Given the description of an element on the screen output the (x, y) to click on. 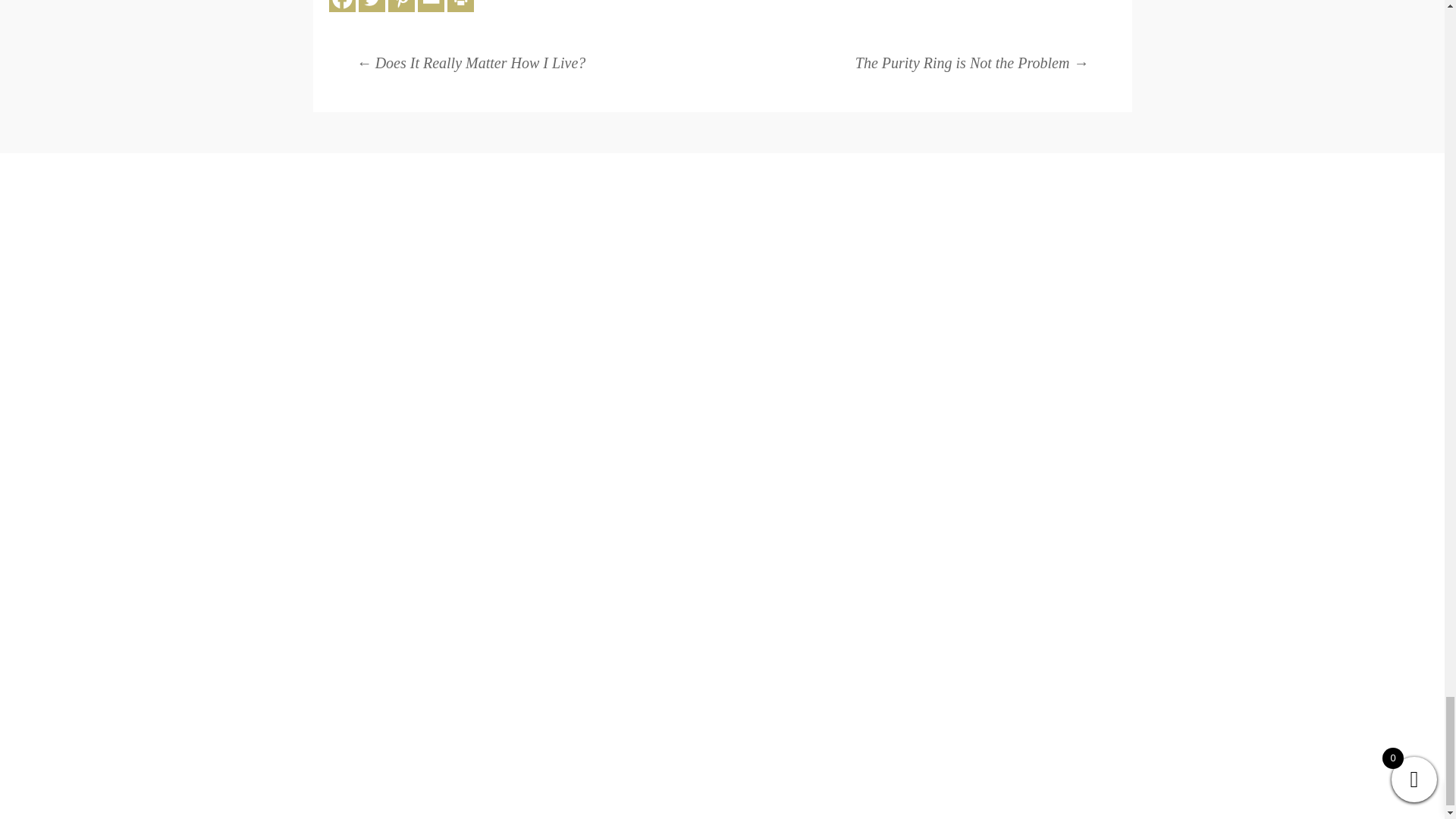
Facebook (342, 6)
Email (430, 6)
Twitter (371, 6)
Print (460, 6)
Pinterest (401, 6)
